Given the description of an element on the screen output the (x, y) to click on. 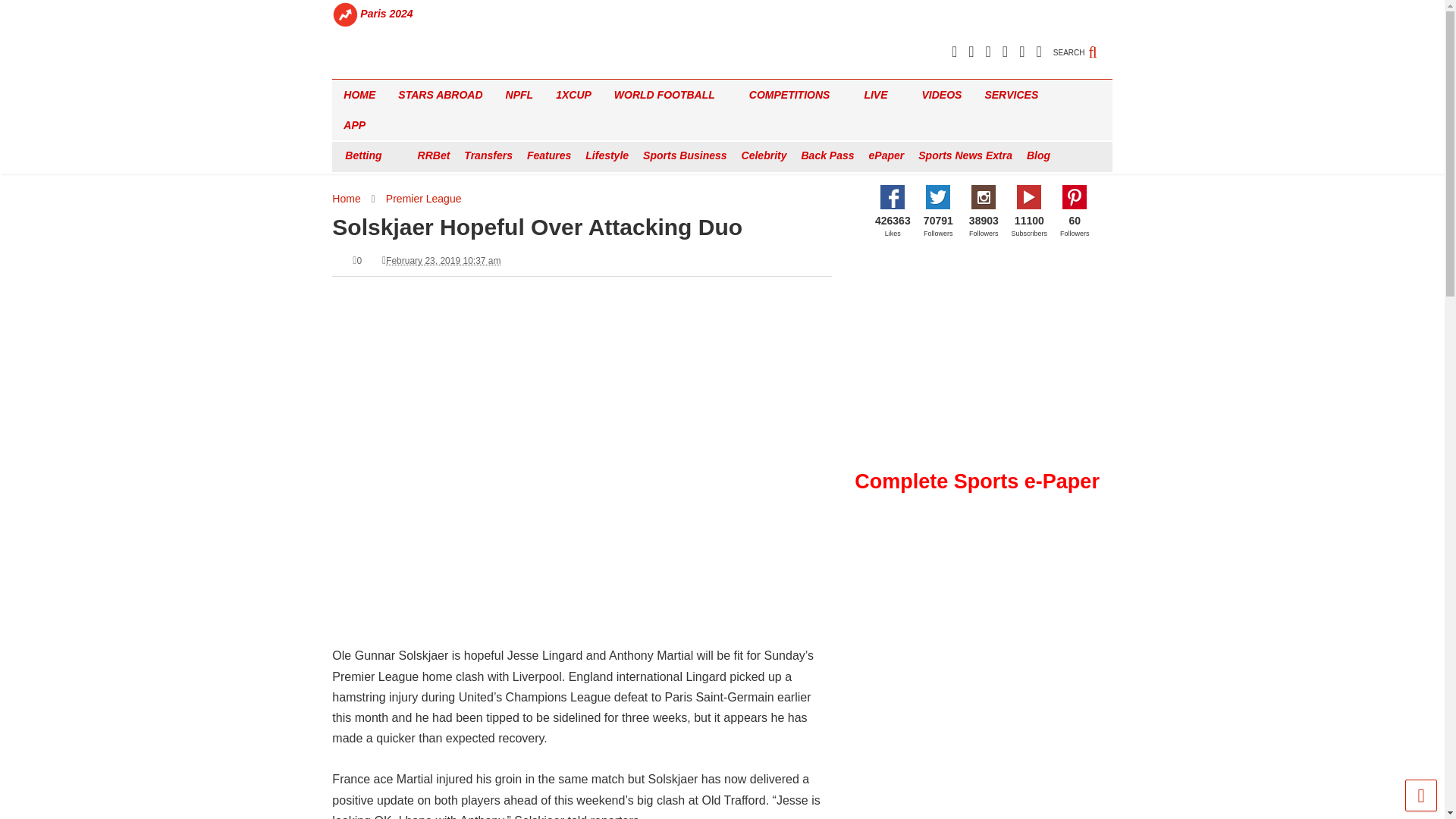
NPFL (519, 94)
Complete Sports (383, 66)
VIDEOS (942, 94)
SERVICES (1016, 94)
WORLD FOOTBALL (670, 94)
LIVE (880, 94)
SEARCH (1082, 44)
COMPETITIONS (795, 94)
February 23, 2019 10:39 am (442, 260)
Paris 2024 (386, 13)
HOME (359, 94)
STARS ABROAD (440, 94)
1XCUP (573, 94)
